Given the description of an element on the screen output the (x, y) to click on. 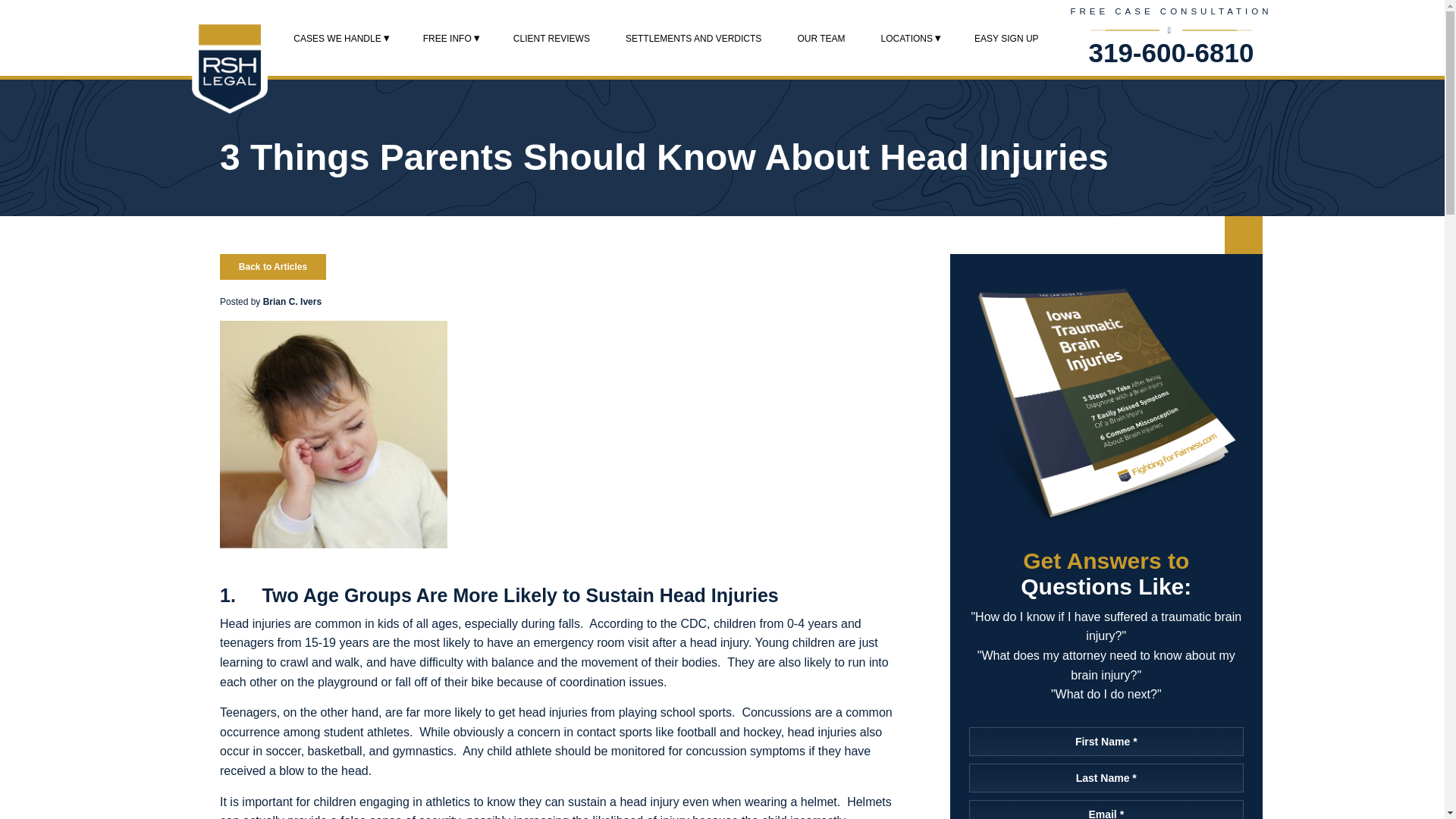
OUR TEAM (820, 38)
LOCATIONS (906, 38)
CASES WE HANDLE (336, 38)
CLIENT REVIEWS (551, 38)
FREE INFO (447, 38)
EASY SIGN UP (1006, 38)
SETTLEMENTS AND VERDICTS (692, 38)
Back to Articles (272, 266)
